Given the description of an element on the screen output the (x, y) to click on. 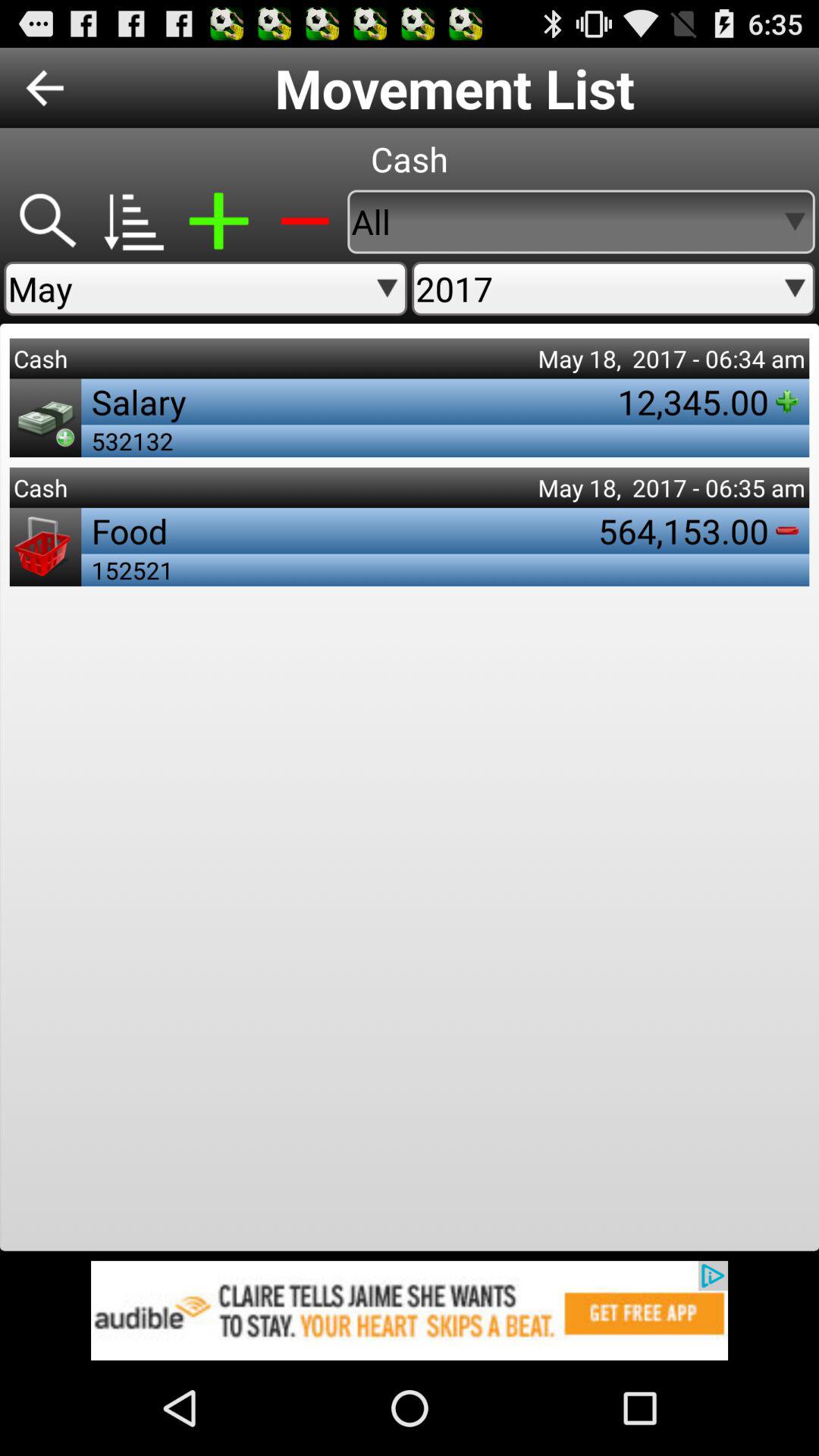
shows an advertisement (409, 1310)
